Given the description of an element on the screen output the (x, y) to click on. 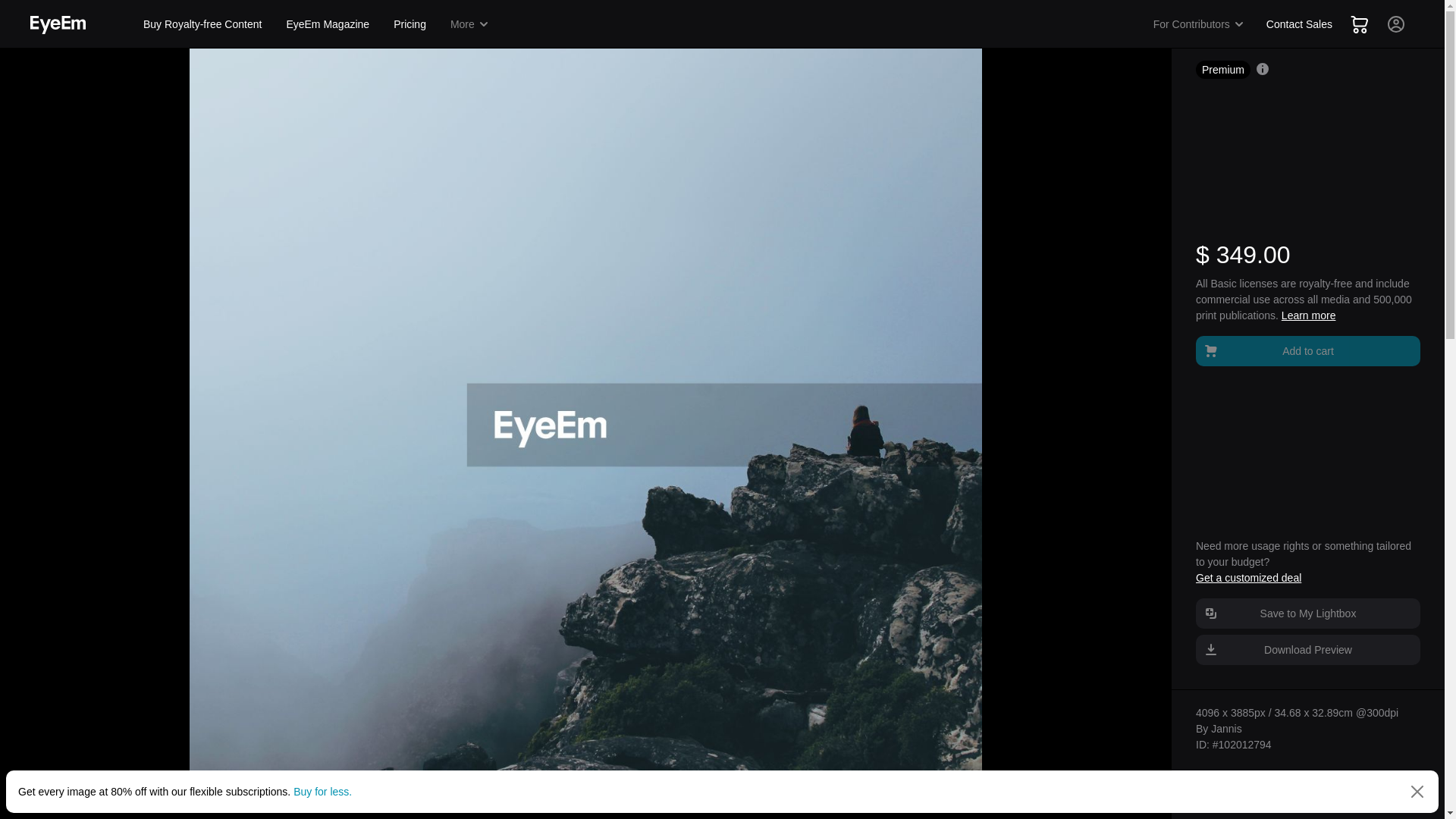
Download Preview (1308, 649)
For Contributors (1198, 24)
Save to My Lightbox (1308, 613)
By Jannis (1218, 727)
Cart (1358, 24)
Add to cart (1308, 349)
Buy Royalty-free Content (201, 24)
Learn more (1308, 315)
Buy for less. (323, 791)
Pricing (409, 24)
